Given the description of an element on the screen output the (x, y) to click on. 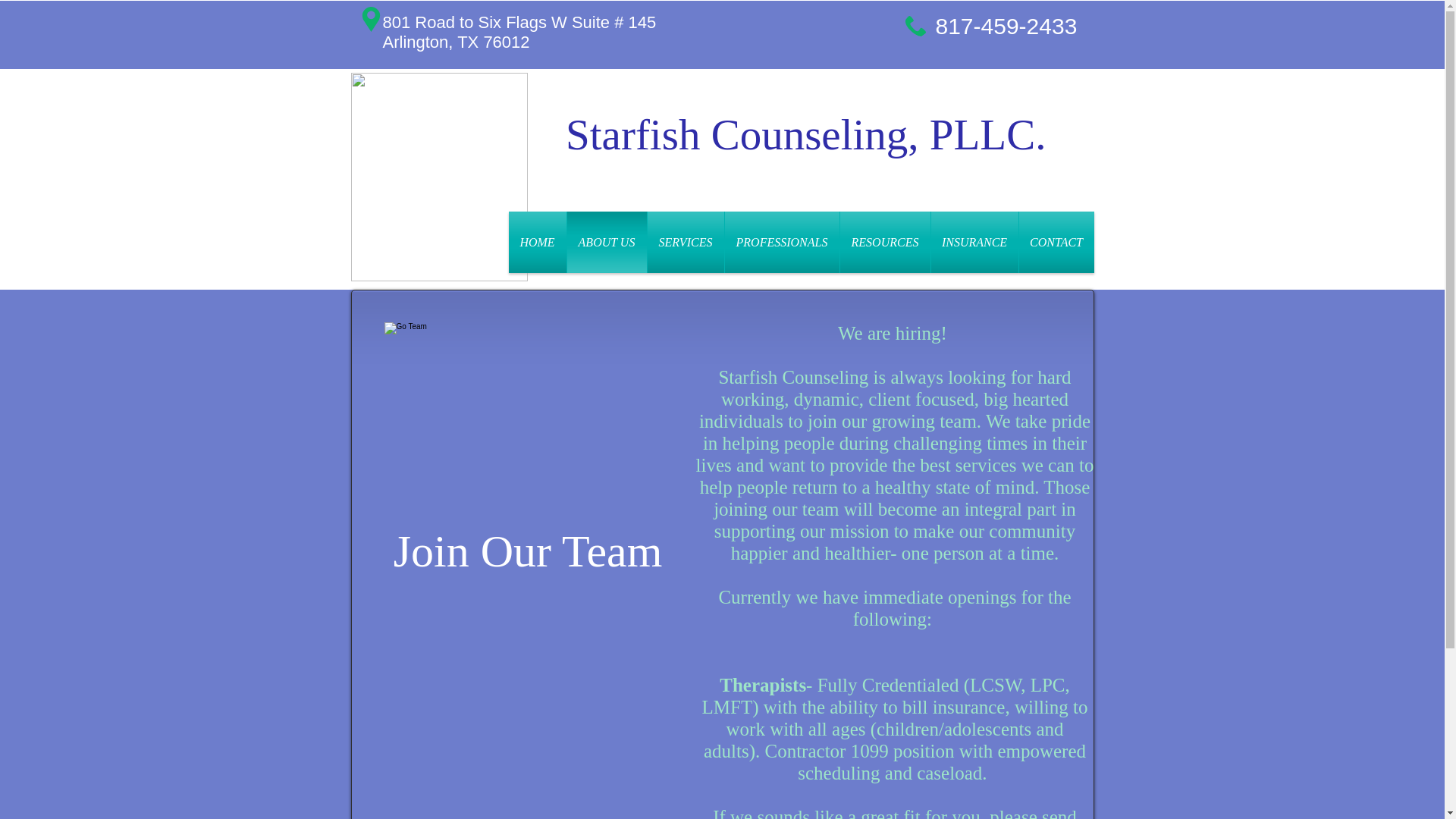
CONTACT (1056, 241)
RESOURCES (885, 241)
SERVICES (685, 241)
HOME (537, 241)
ABOUT US (606, 241)
INSURANCE (974, 241)
PROFESSIONALS (782, 241)
